Given the description of an element on the screen output the (x, y) to click on. 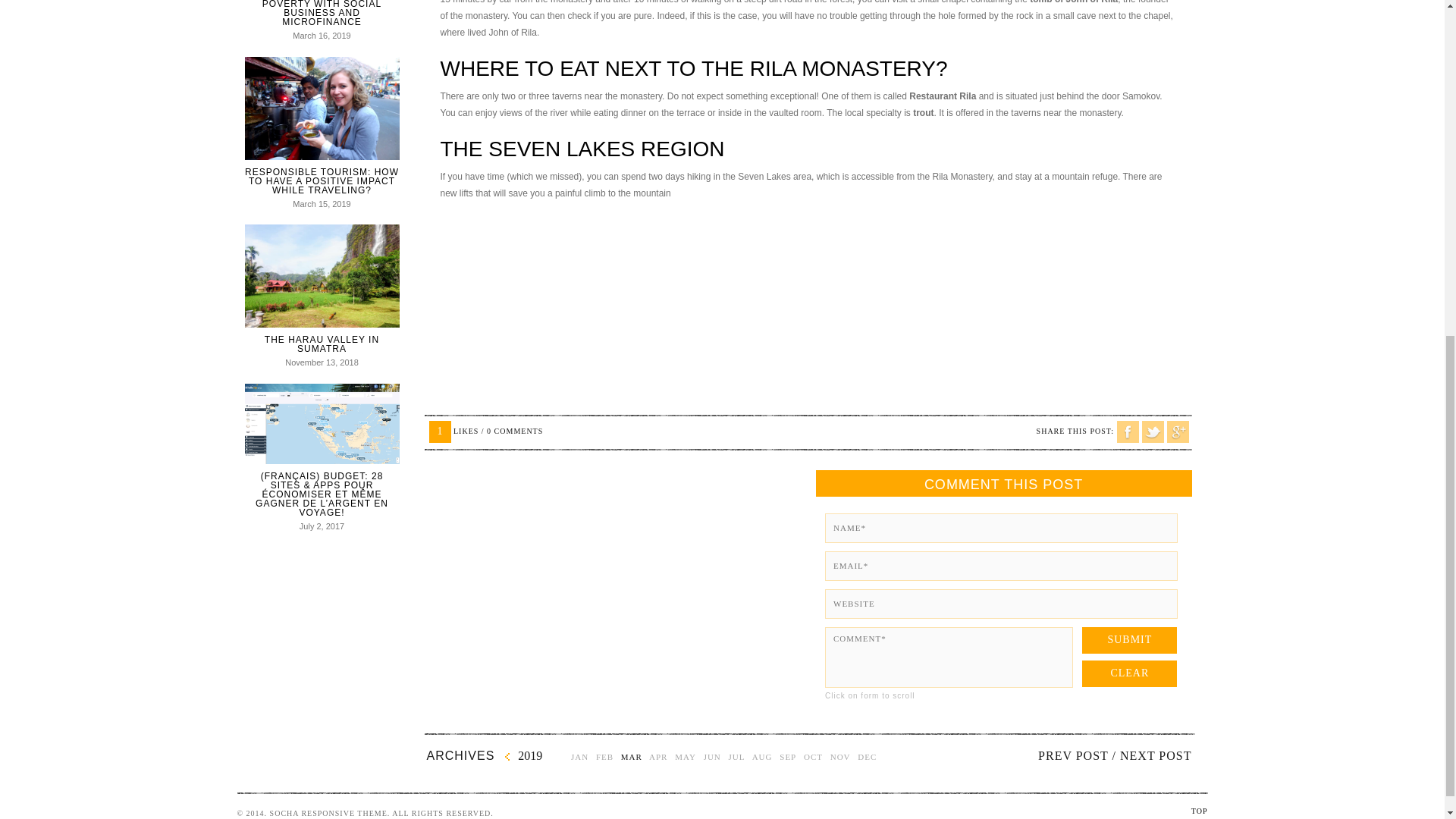
Advertisement (807, 316)
Clear (1128, 673)
I like this article (440, 431)
Submit (1128, 640)
